Given the description of an element on the screen output the (x, y) to click on. 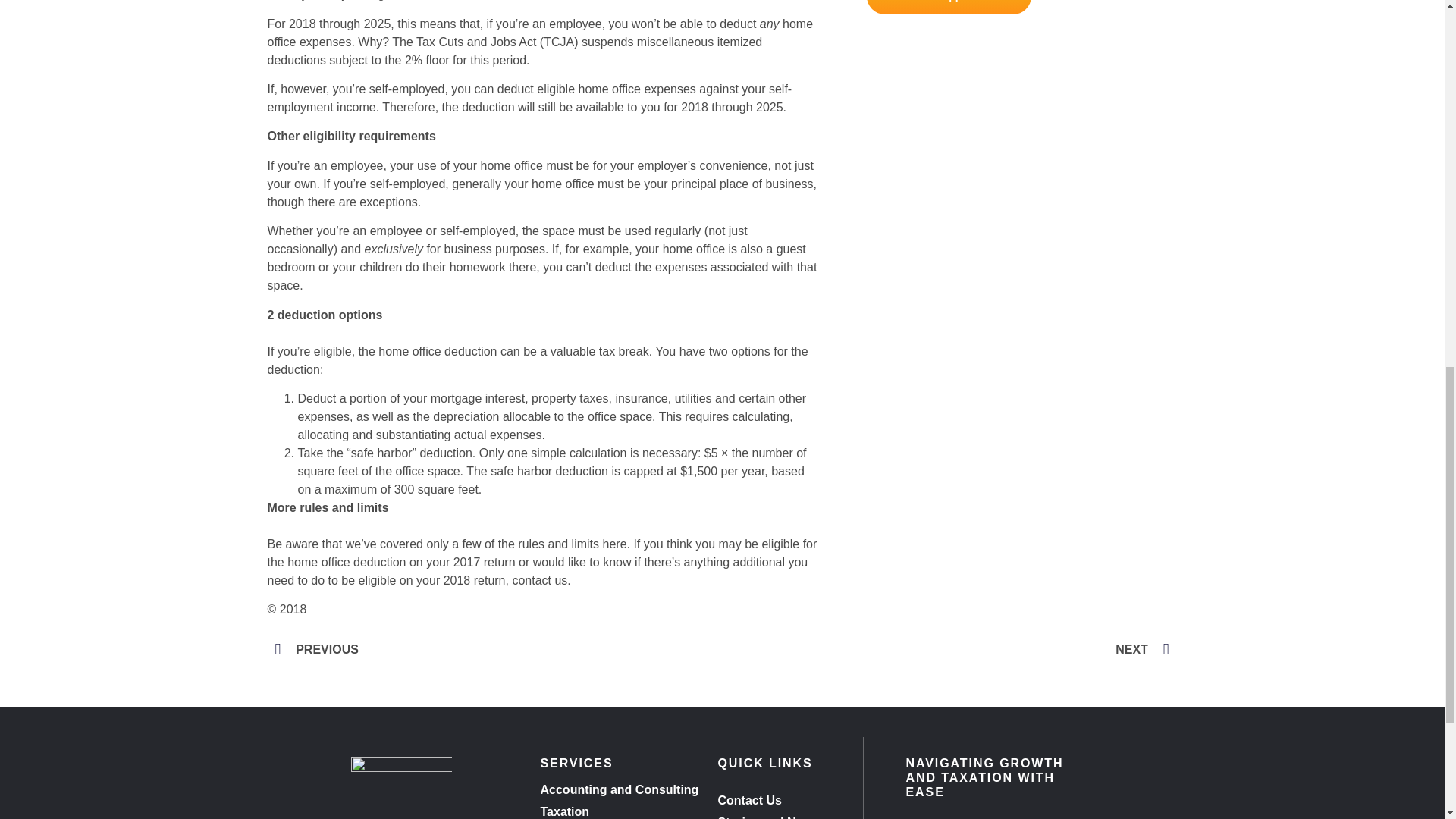
NEXT (945, 649)
PREVIOUS (498, 649)
Schedule Appointment (948, 7)
